Given the description of an element on the screen output the (x, y) to click on. 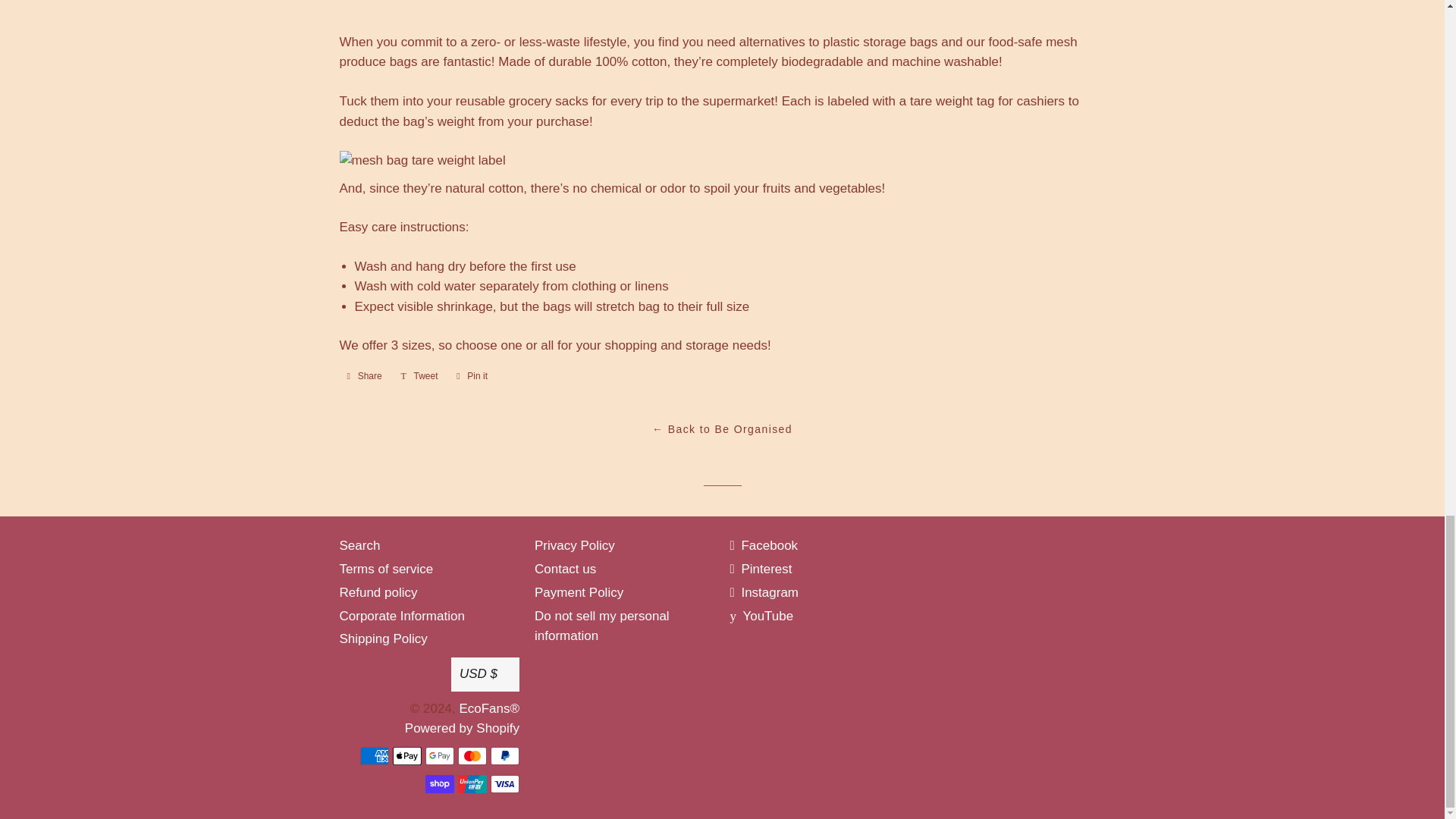
Apple Pay (407, 755)
Pin on Pinterest (471, 375)
Tweet on Twitter (419, 375)
Google Pay (439, 755)
Share on Facebook (364, 375)
Union Pay (472, 783)
Visa (504, 783)
Shop Pay (439, 783)
Mastercard (472, 755)
PayPal (504, 755)
American Express (373, 755)
